Given the description of an element on the screen output the (x, y) to click on. 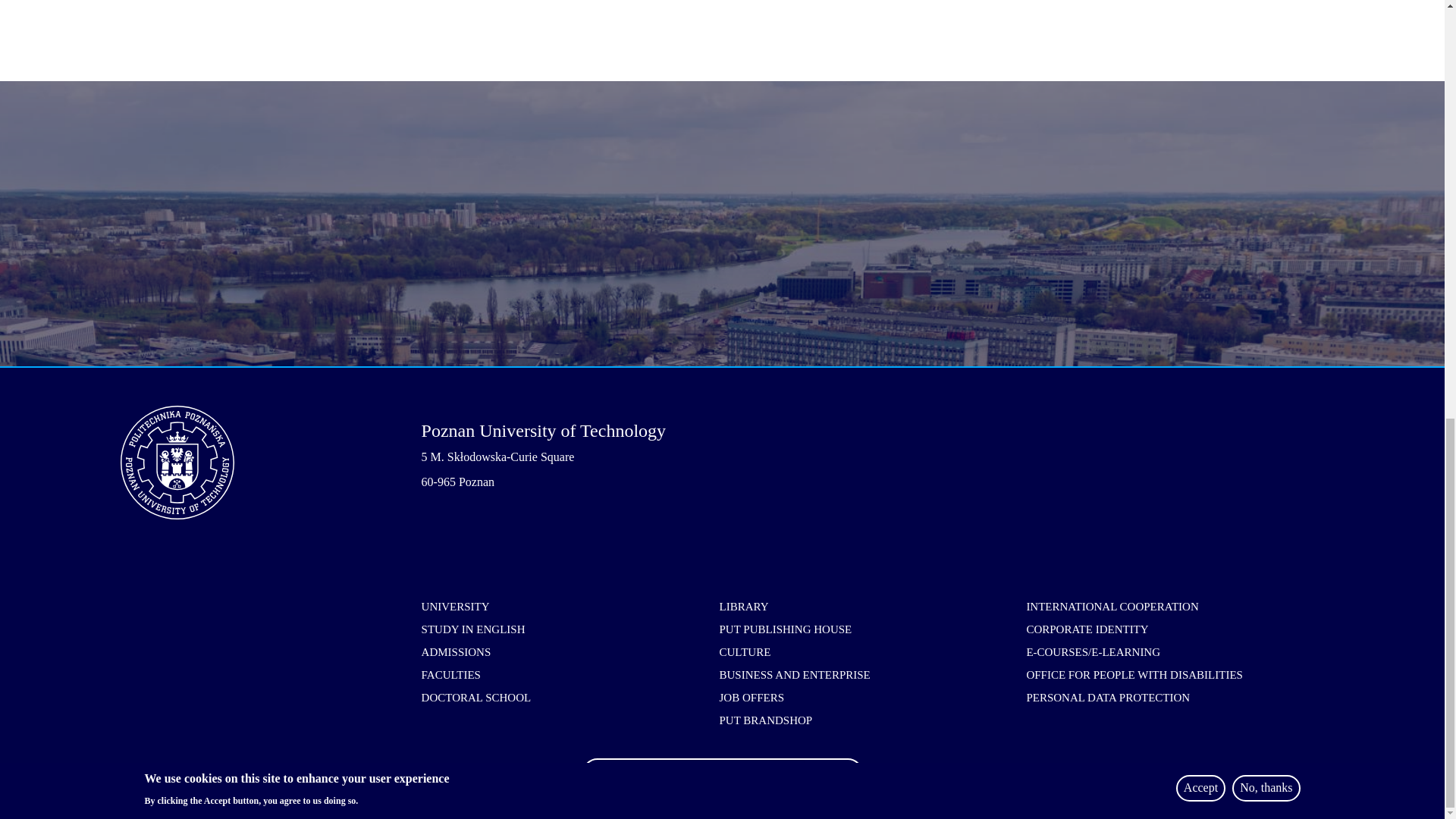
Home (271, 462)
